Given the description of an element on the screen output the (x, y) to click on. 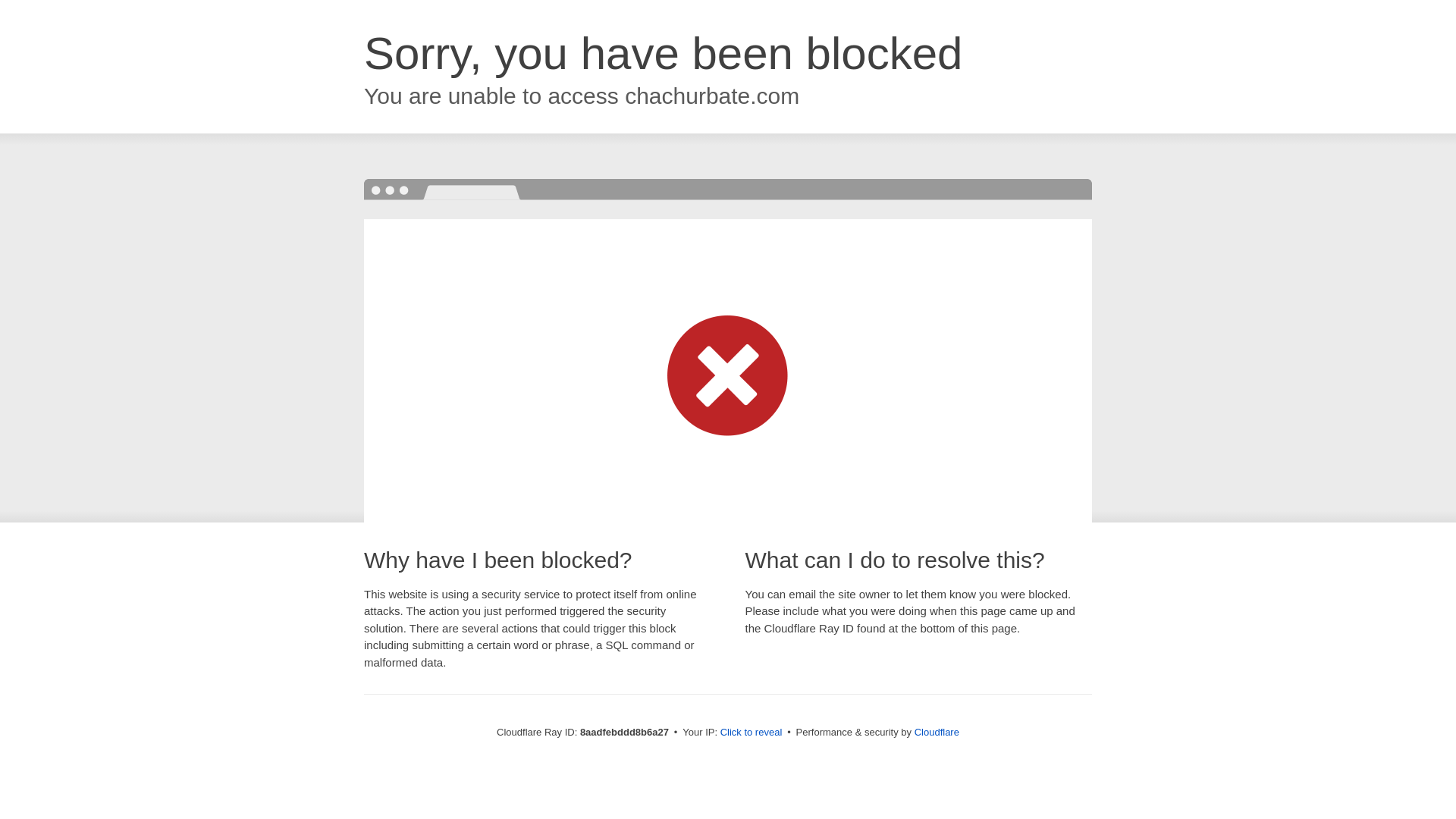
Cloudflare (936, 731)
Click to reveal (751, 732)
